Given the description of an element on the screen output the (x, y) to click on. 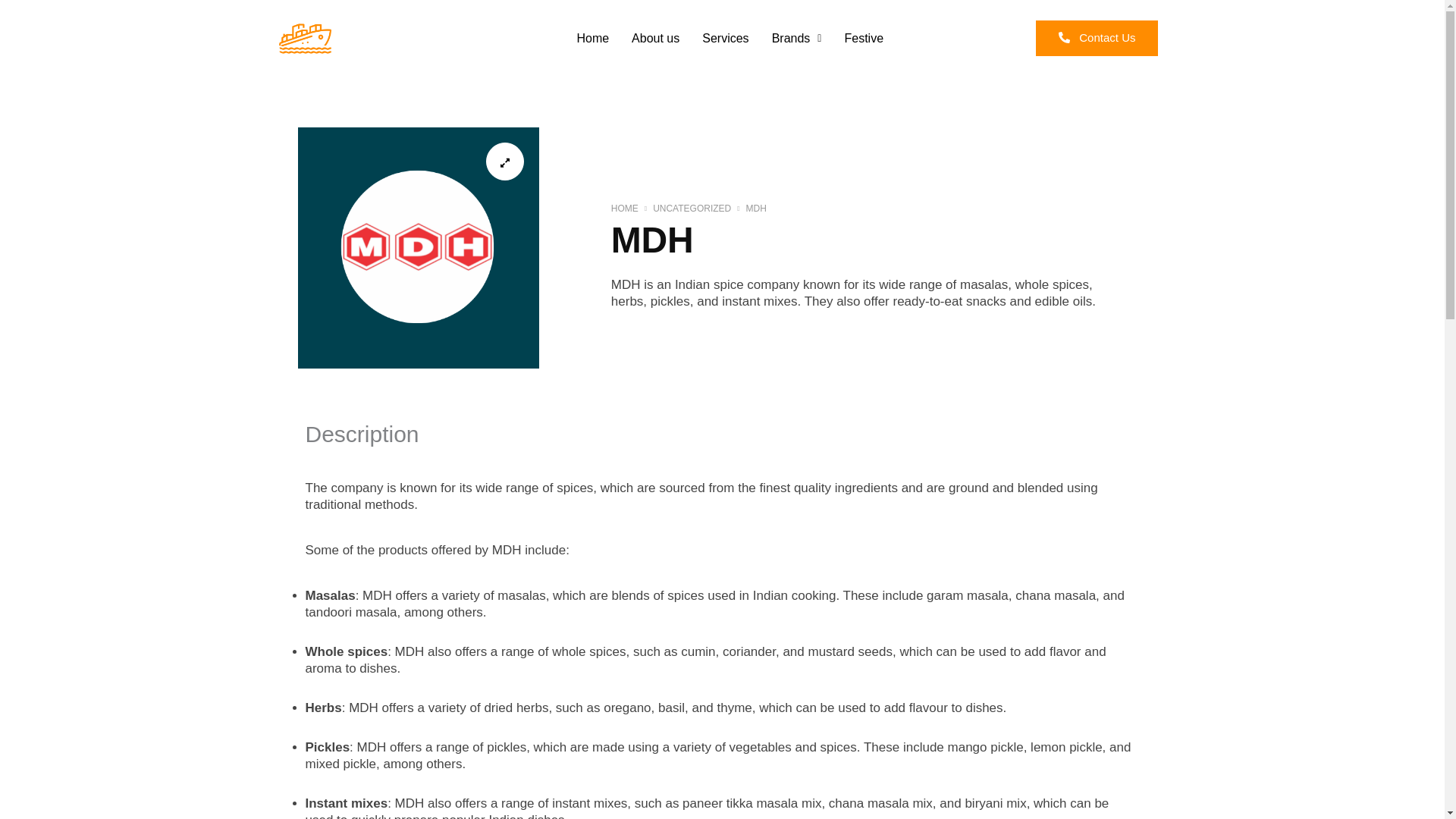
Services (725, 38)
Brands (796, 38)
MG INDIA (381, 19)
EXPORT (383, 55)
About us (655, 38)
Home (592, 38)
Product Thumbnail (505, 161)
1 (417, 247)
